Given the description of an element on the screen output the (x, y) to click on. 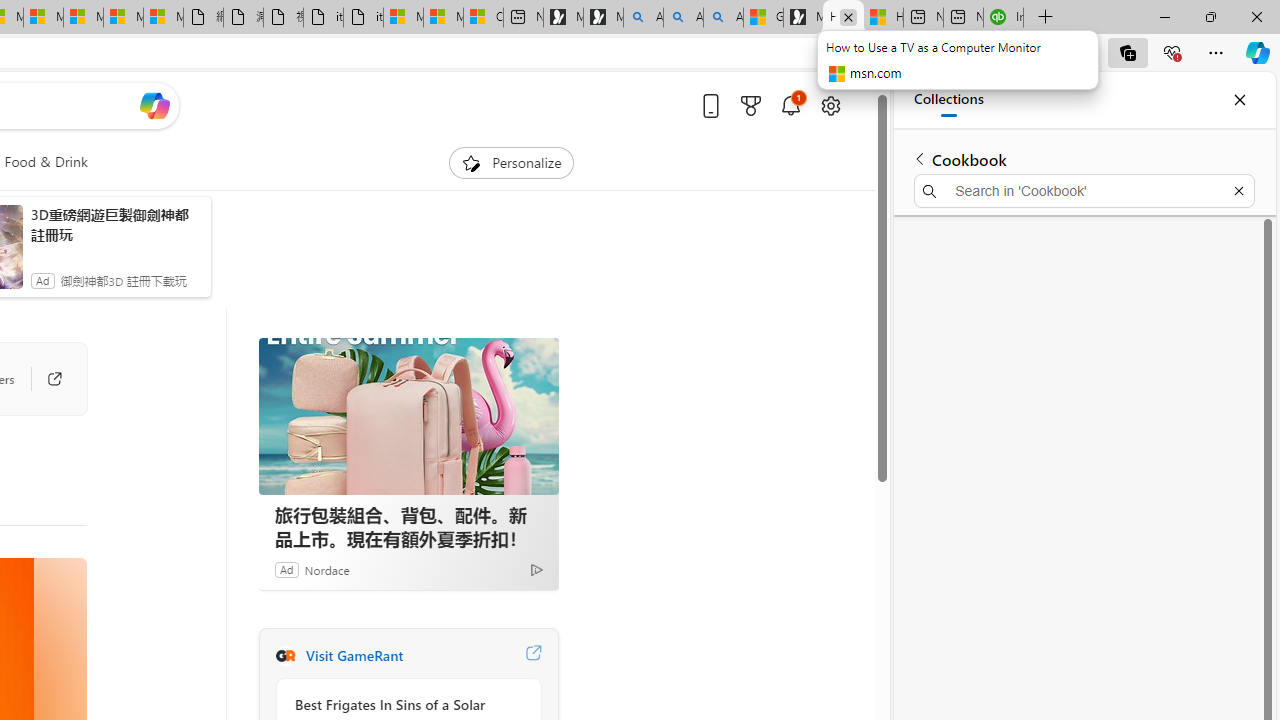
Alabama high school quarterback dies - Search Videos (723, 17)
Go to publisher's site (44, 378)
GameRant (285, 655)
How to Use a TV as a Computer Monitor (883, 17)
